Given the description of an element on the screen output the (x, y) to click on. 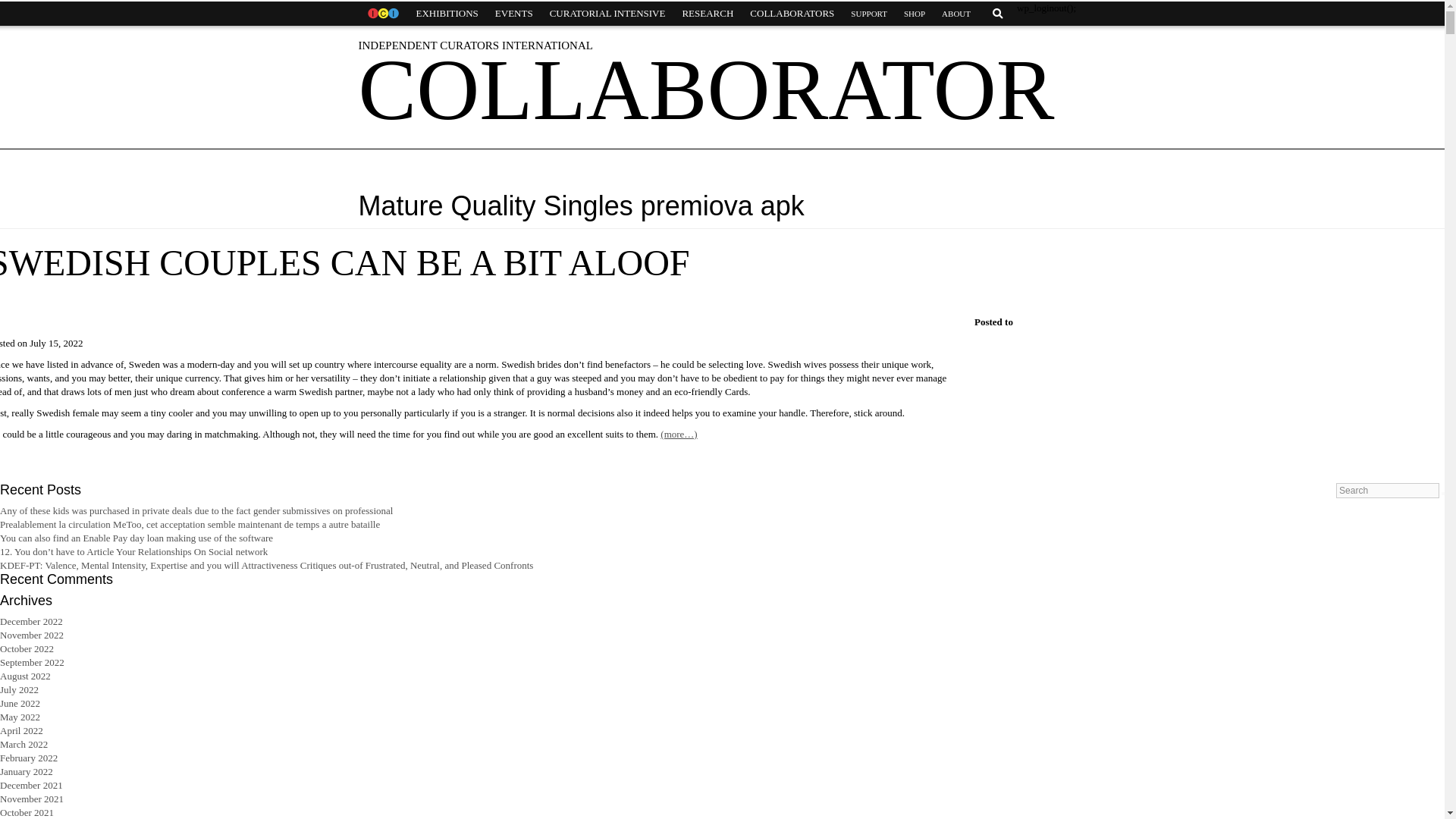
EXHIBITIONS (446, 13)
RESEARCH (706, 13)
CURATORIAL INTENSIVE (607, 13)
HOME (382, 13)
EVENTS (513, 13)
COLLABORATORS (792, 13)
